Given the description of an element on the screen output the (x, y) to click on. 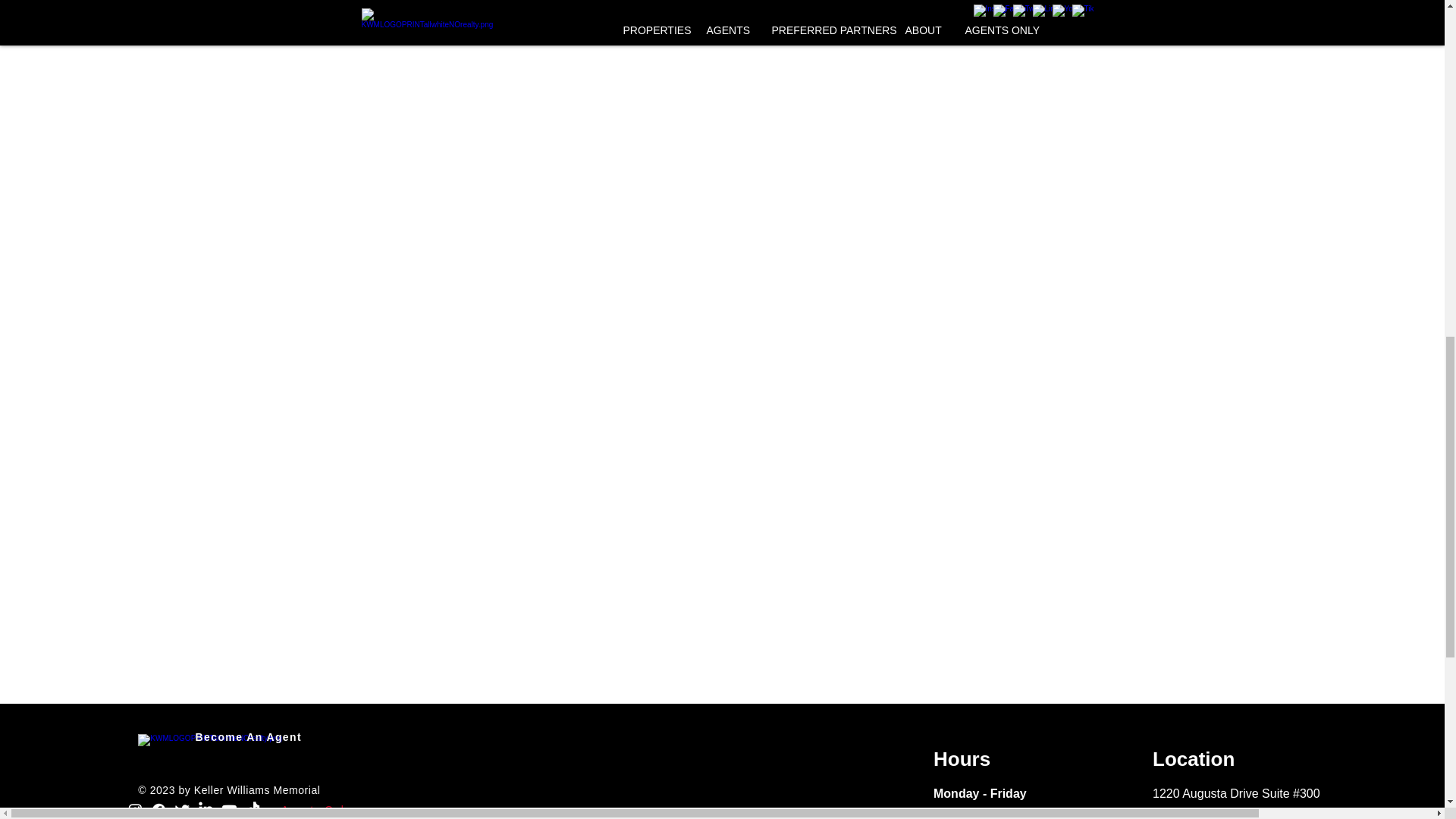
Houston, TX 77057 (1205, 815)
Agents Only (316, 809)
Become An Agent (249, 736)
